Given the description of an element on the screen output the (x, y) to click on. 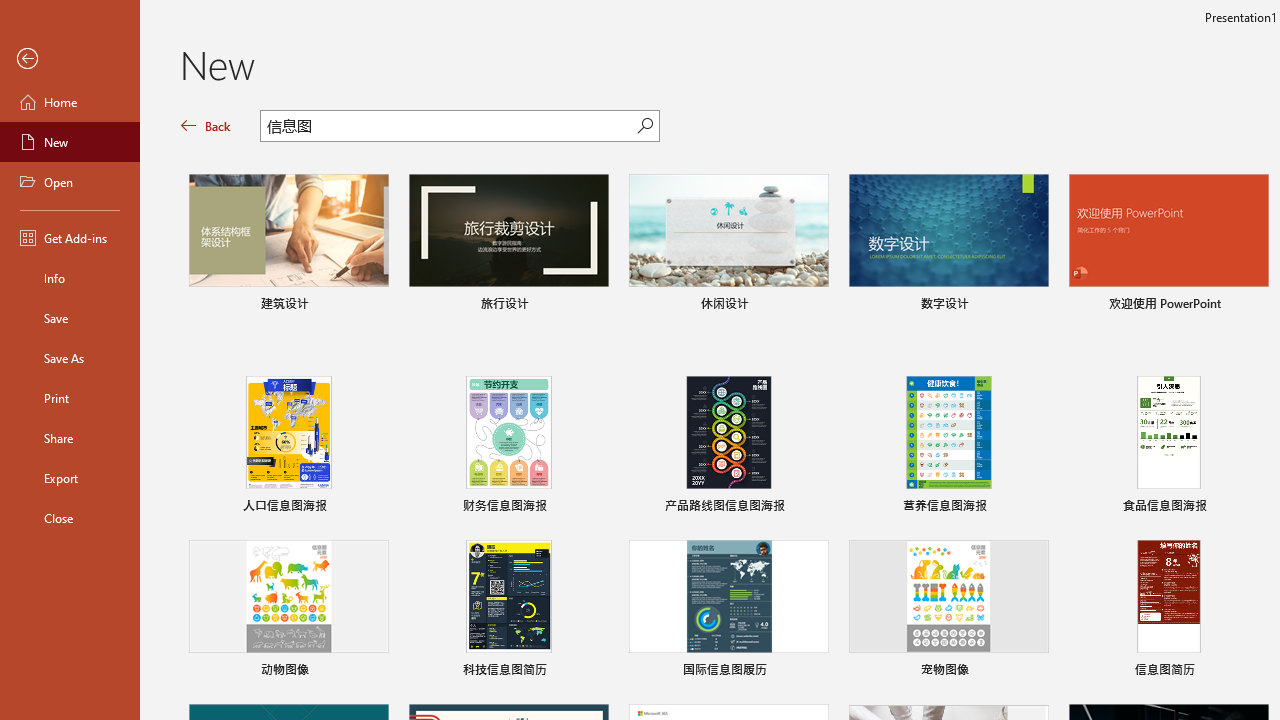
Start searching (645, 125)
